Given the description of an element on the screen output the (x, y) to click on. 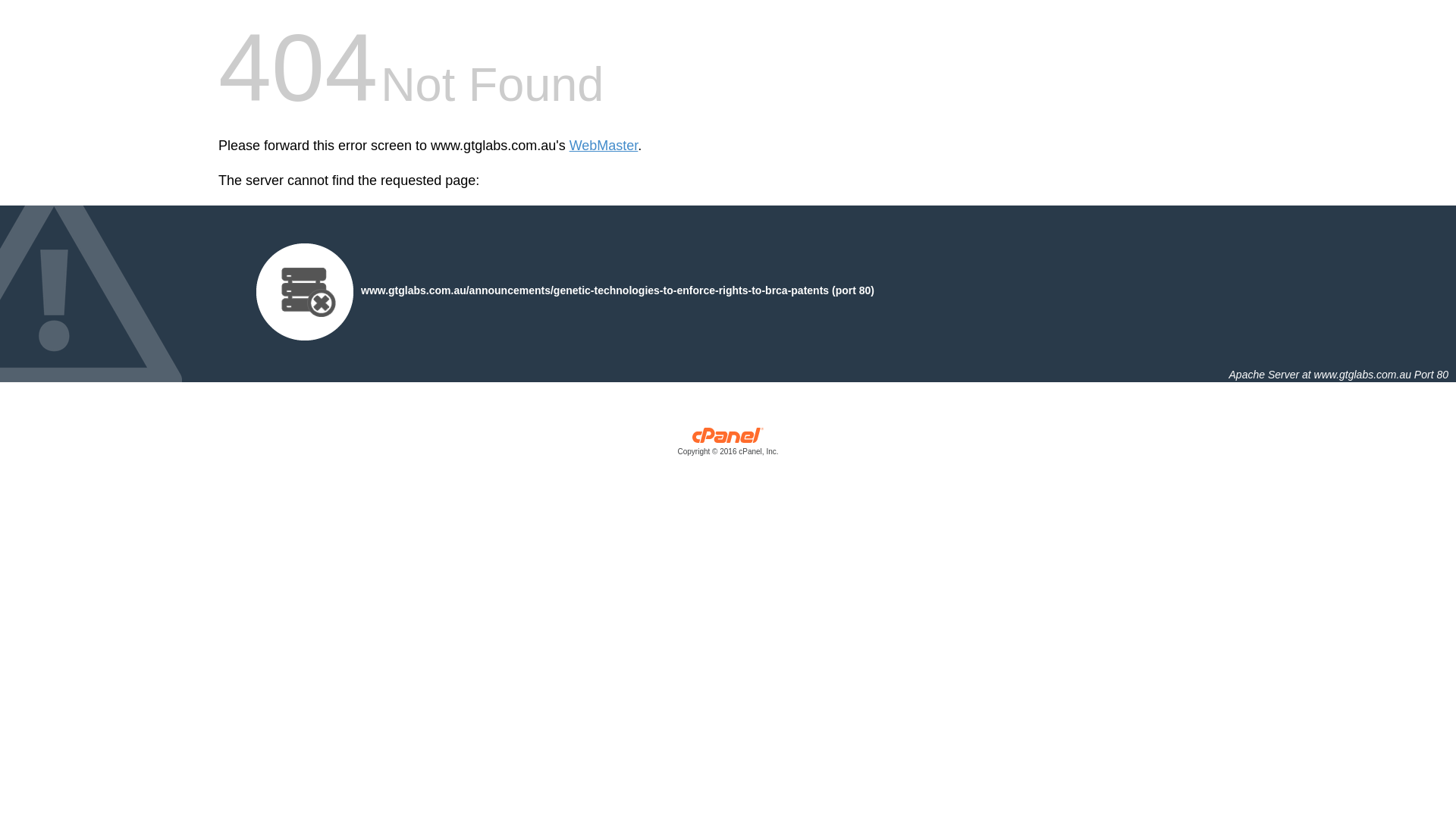
WebMaster Element type: text (603, 145)
